Given the description of an element on the screen output the (x, y) to click on. 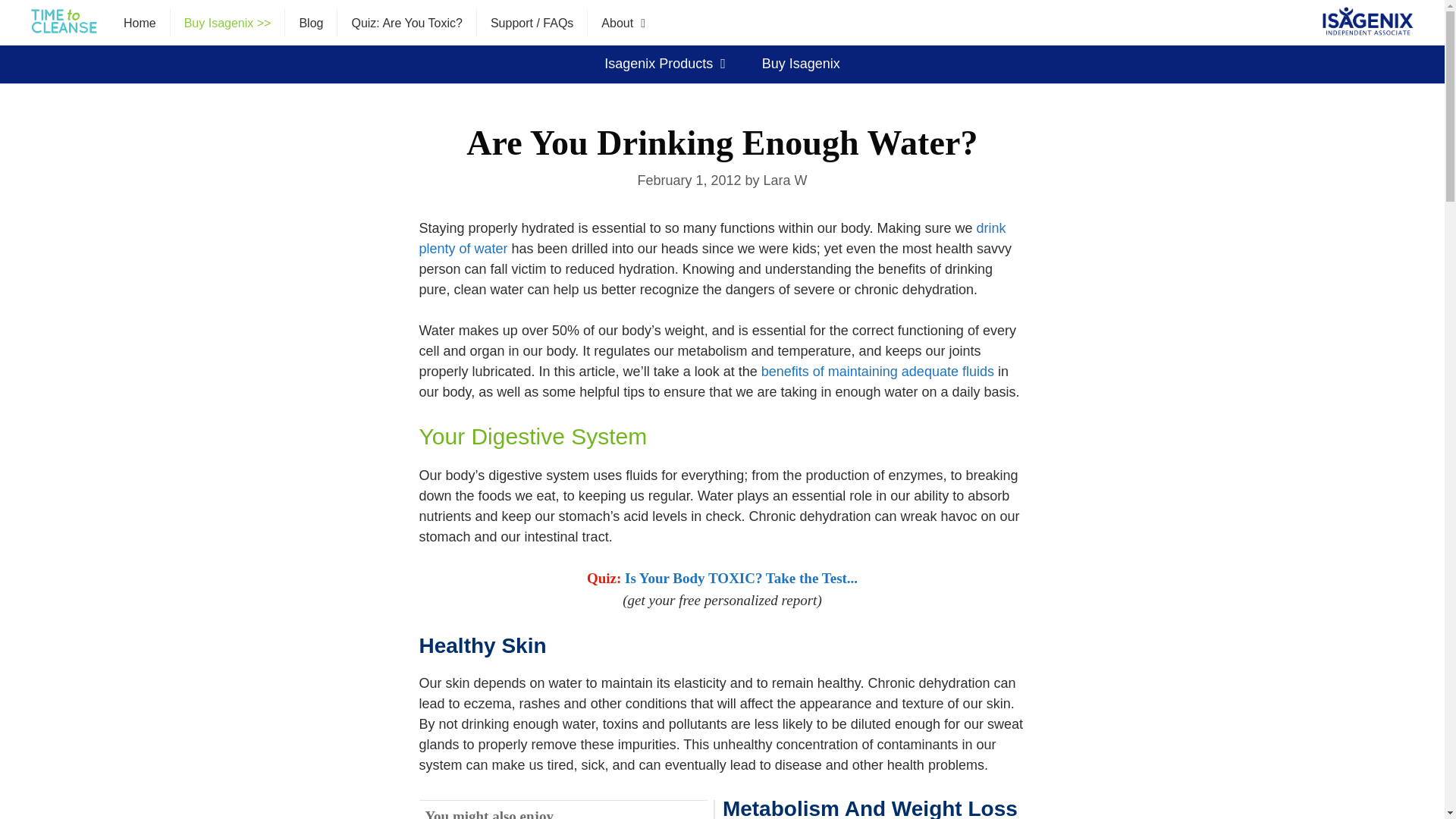
Quiz: Are You Toxic? (406, 22)
Home (140, 22)
Isagenix Products (667, 63)
View all posts by Lara W (785, 180)
Blog (311, 22)
About (625, 22)
